Given the description of an element on the screen output the (x, y) to click on. 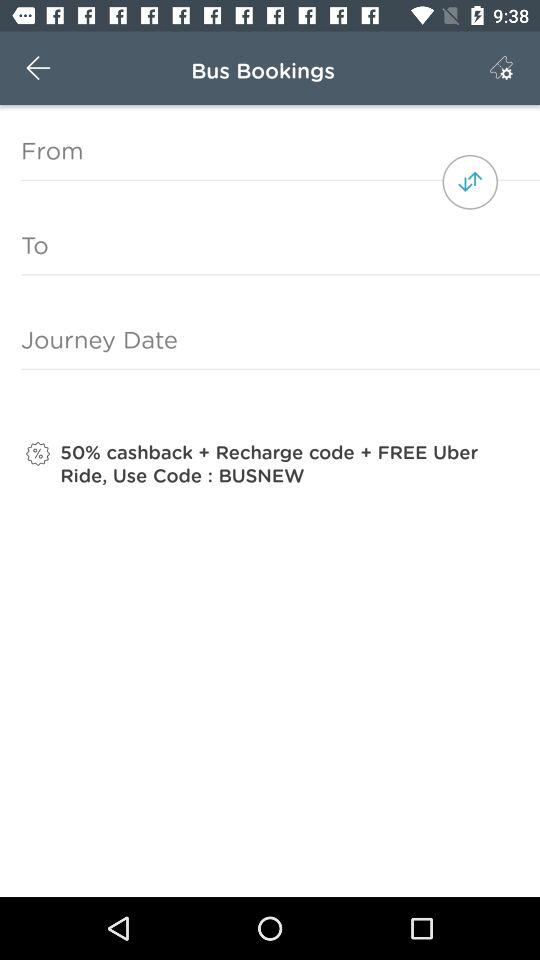
launch icon to the left of bus bookings (38, 68)
